Given the description of an element on the screen output the (x, y) to click on. 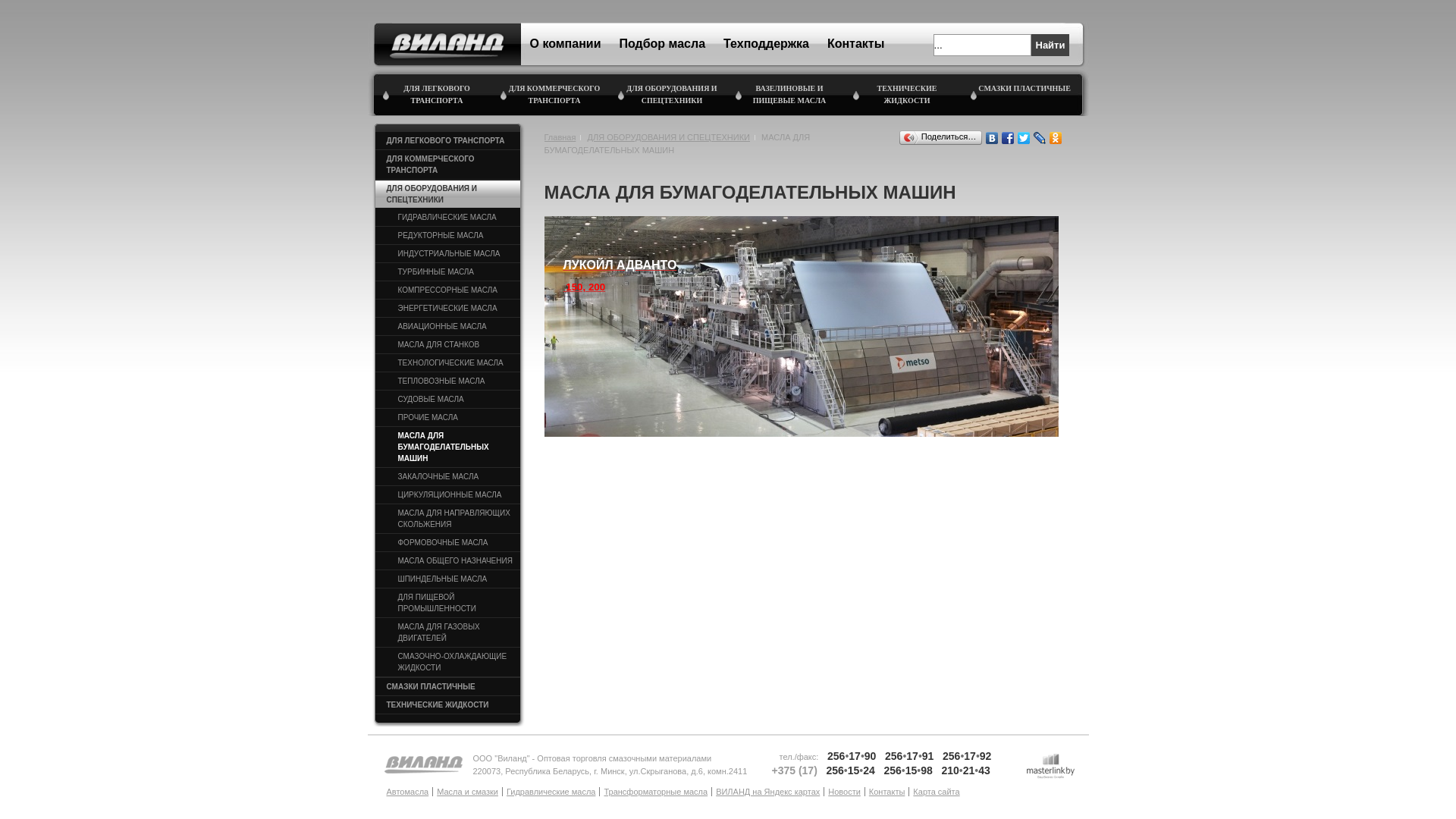
LiveJournal Element type: hover (1039, 137)
Facebook Element type: hover (1007, 137)
Twitter Element type: hover (1024, 137)
 150, 200 Element type: text (584, 286)
